Given the description of an element on the screen output the (x, y) to click on. 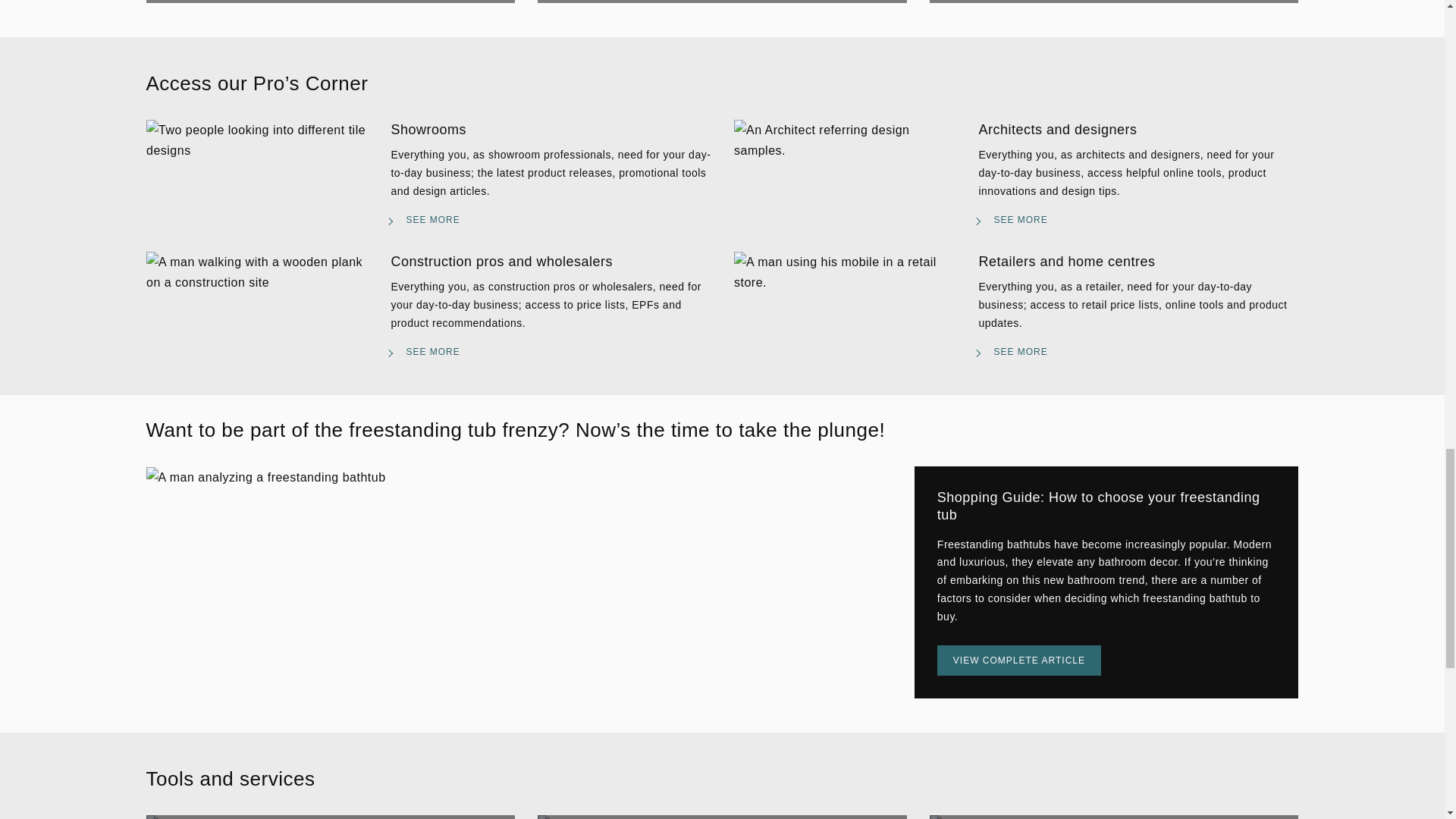
MAAX Resources For Showroom Professionals (256, 139)
